Given the description of an element on the screen output the (x, y) to click on. 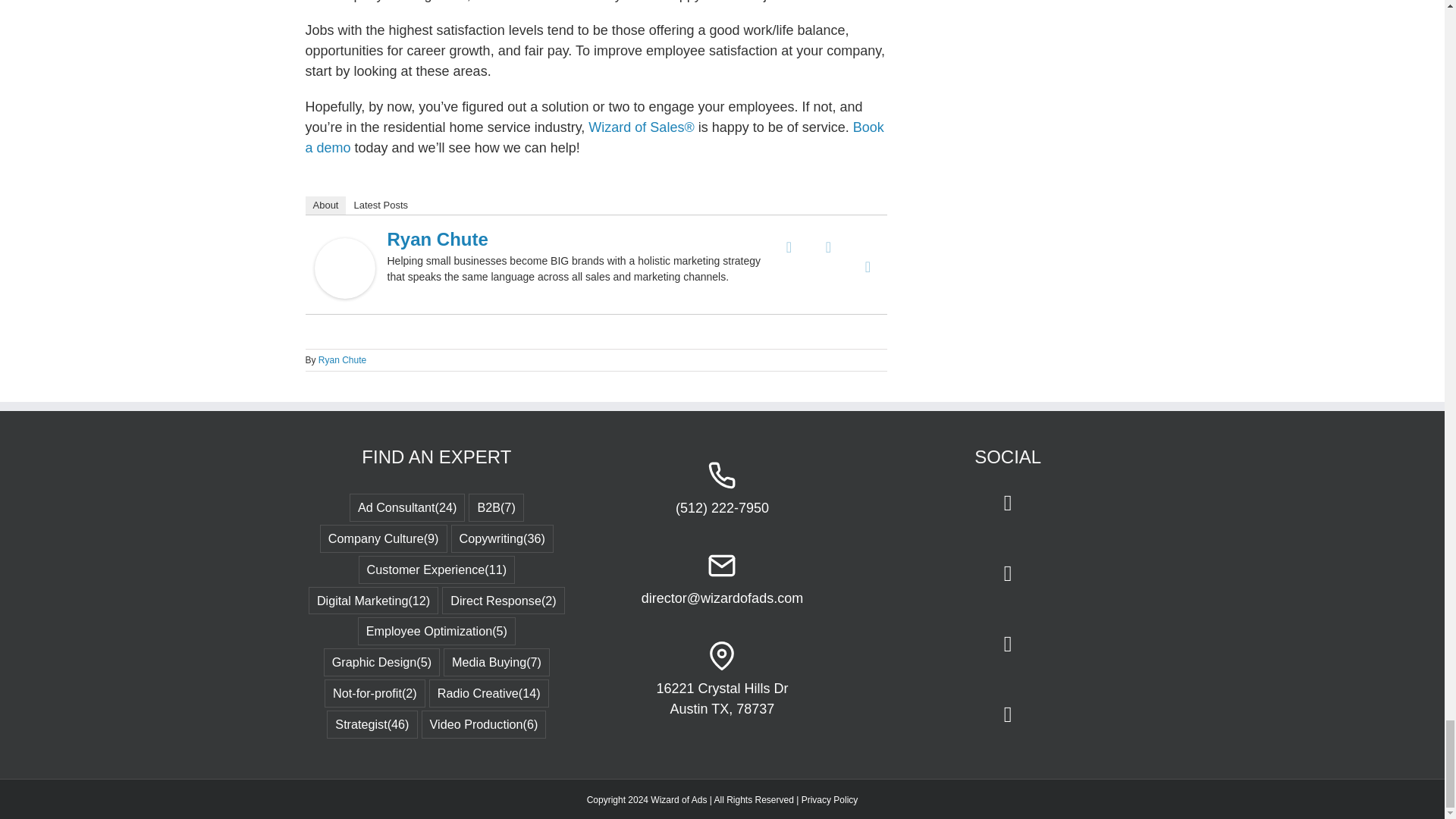
Instagram (847, 242)
Twitter (807, 242)
Facebook (787, 247)
About (325, 205)
LinkedIn (827, 247)
Email (867, 266)
Latest Posts (380, 205)
YouTube (867, 242)
Ryan Chute (344, 247)
Book a demo (593, 137)
